Given the description of an element on the screen output the (x, y) to click on. 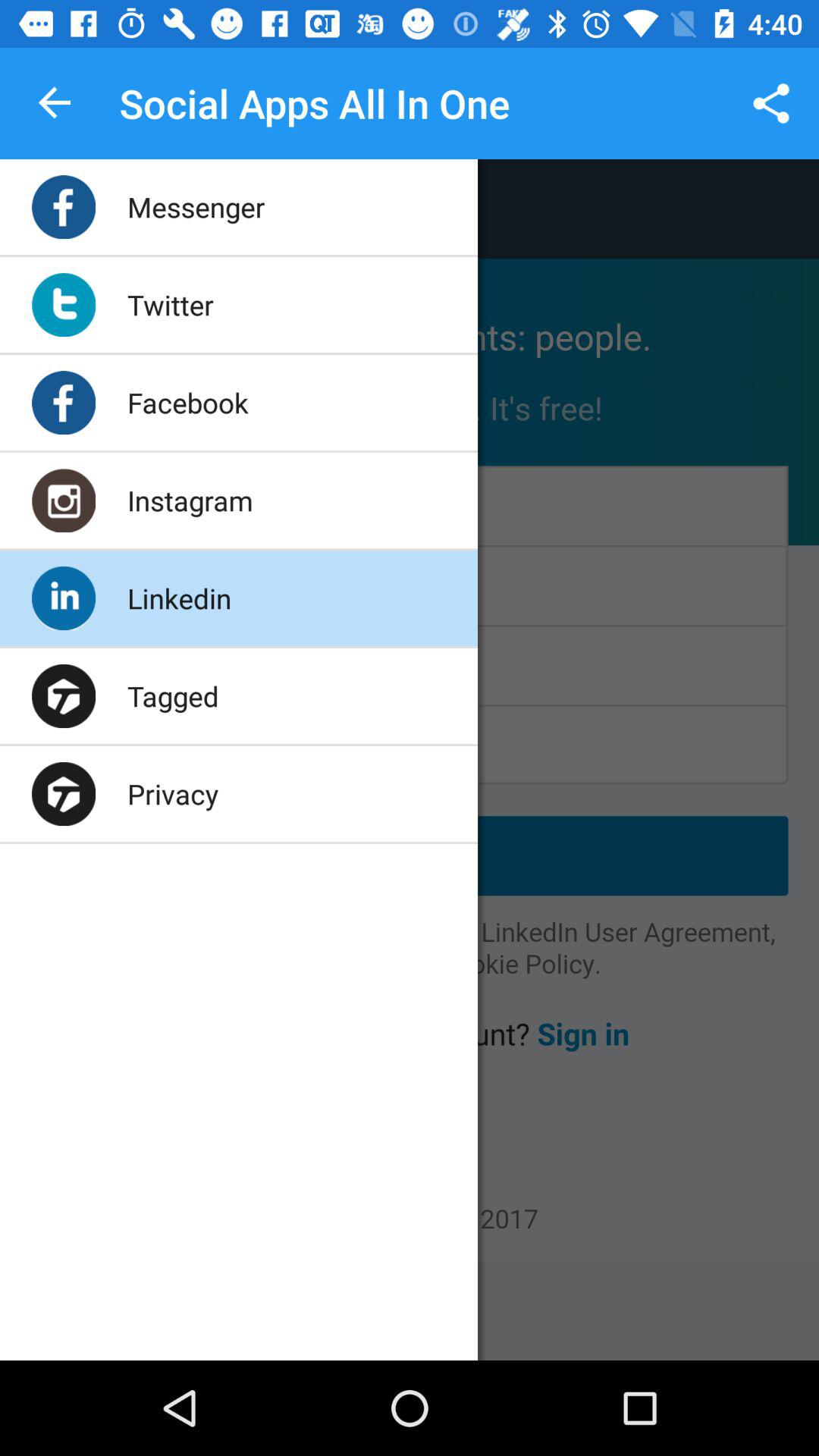
swipe until the twitter (170, 304)
